Given the description of an element on the screen output the (x, y) to click on. 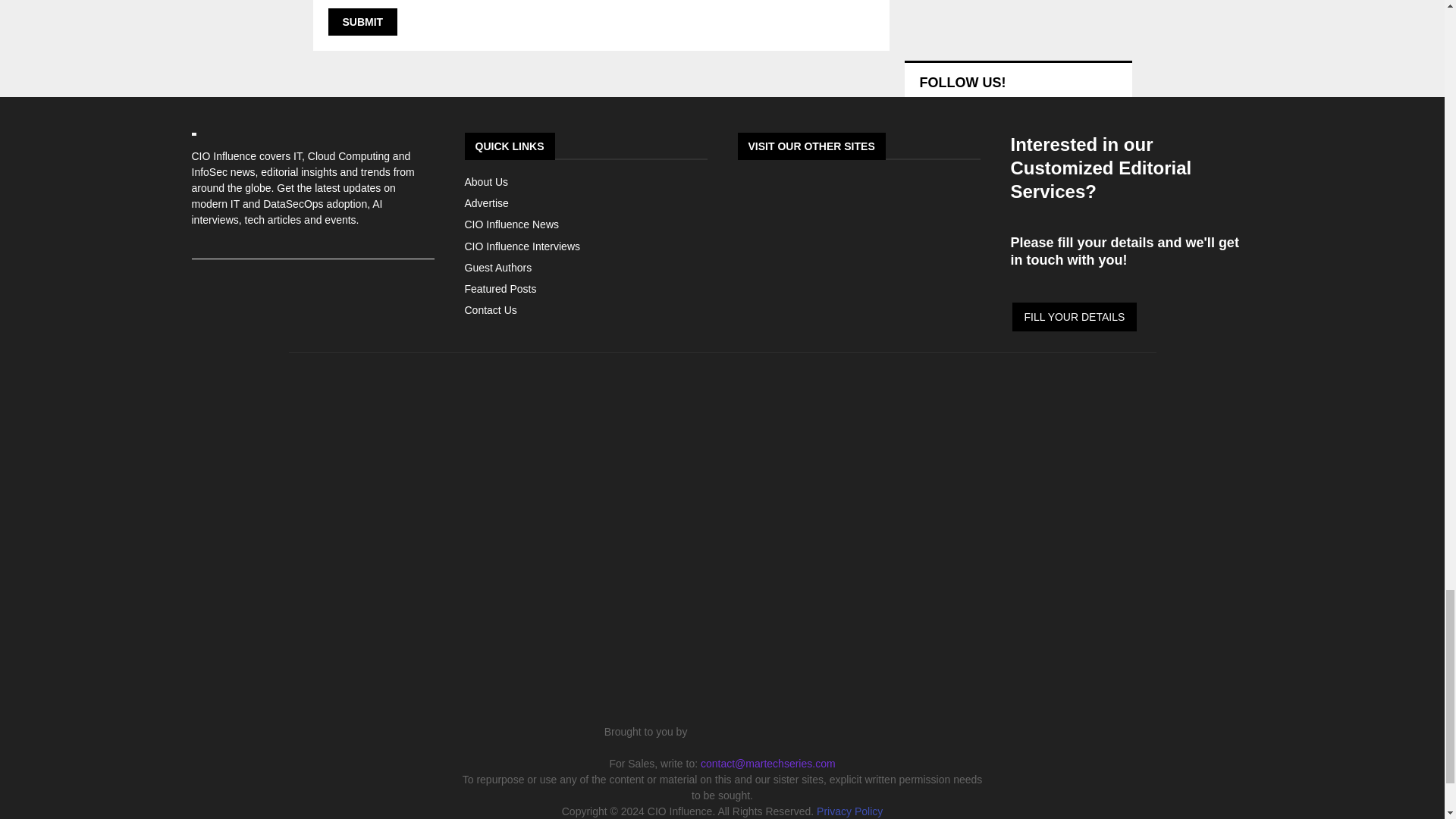
Submit (362, 22)
CIO Influence (721, 582)
CIO Influence (765, 731)
